Given the description of an element on the screen output the (x, y) to click on. 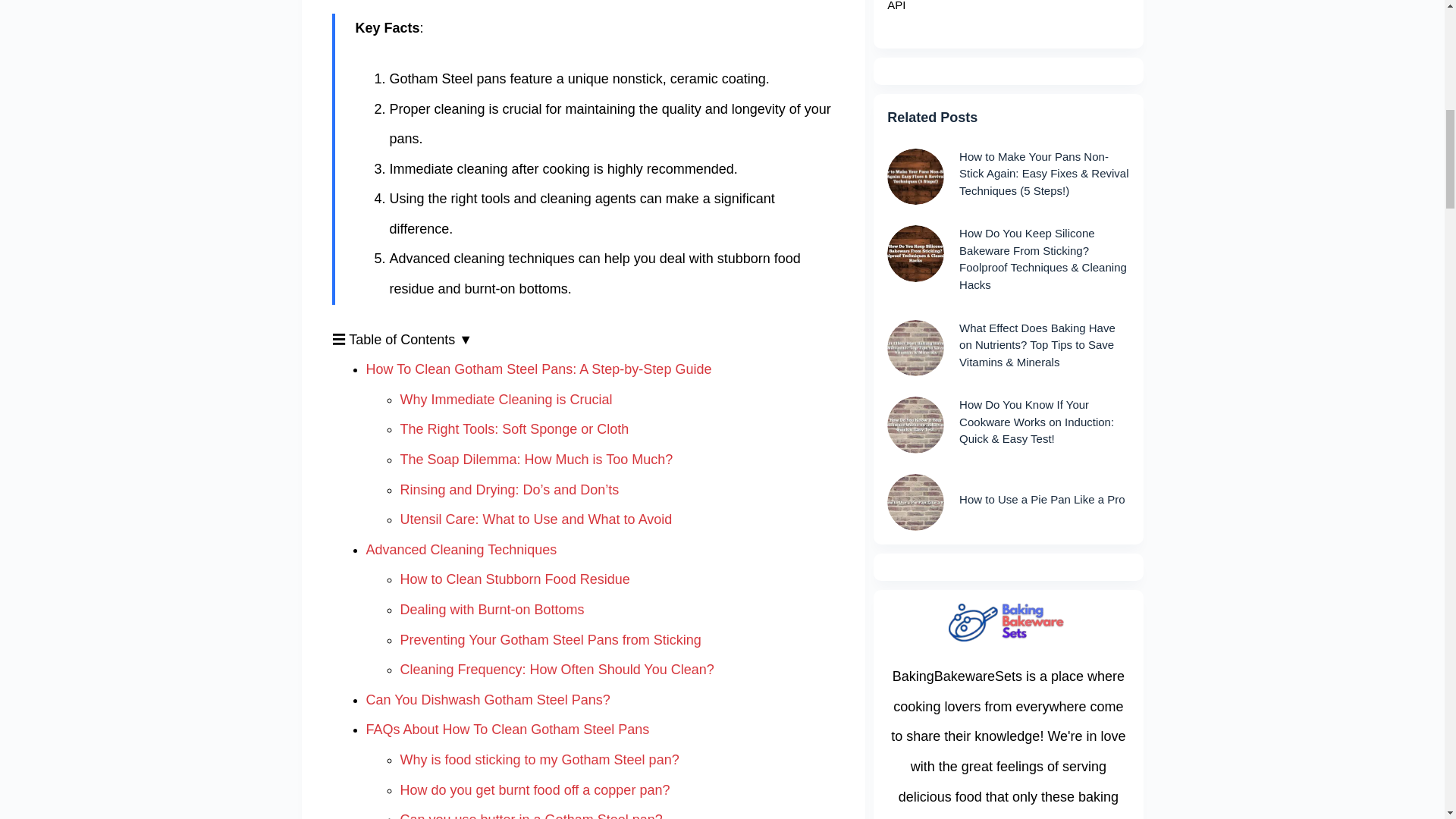
FAQs About How To Clean Gotham Steel Pans (507, 729)
Can You Dishwash Gotham Steel Pans? (487, 699)
How to Clean Stubborn Food Residue (515, 579)
Cleaning Frequency: How Often Should You Clean? (557, 669)
The Right Tools: Soft Sponge or Cloth (514, 428)
Why is food sticking to my Gotham Steel pan? (539, 759)
How do you get burnt food off a copper pan? (534, 789)
The Soap Dilemma: How Much is Too Much? (536, 459)
Advanced Cleaning Techniques (460, 549)
How To Clean Gotham Steel Pans: A Step-by-Step Guide (538, 368)
Why Immediate Cleaning is Crucial (506, 399)
Preventing Your Gotham Steel Pans from Sticking (550, 639)
Utensil Care: What to Use and What to Avoid (536, 519)
Dealing with Burnt-on Bottoms (492, 609)
